Given the description of an element on the screen output the (x, y) to click on. 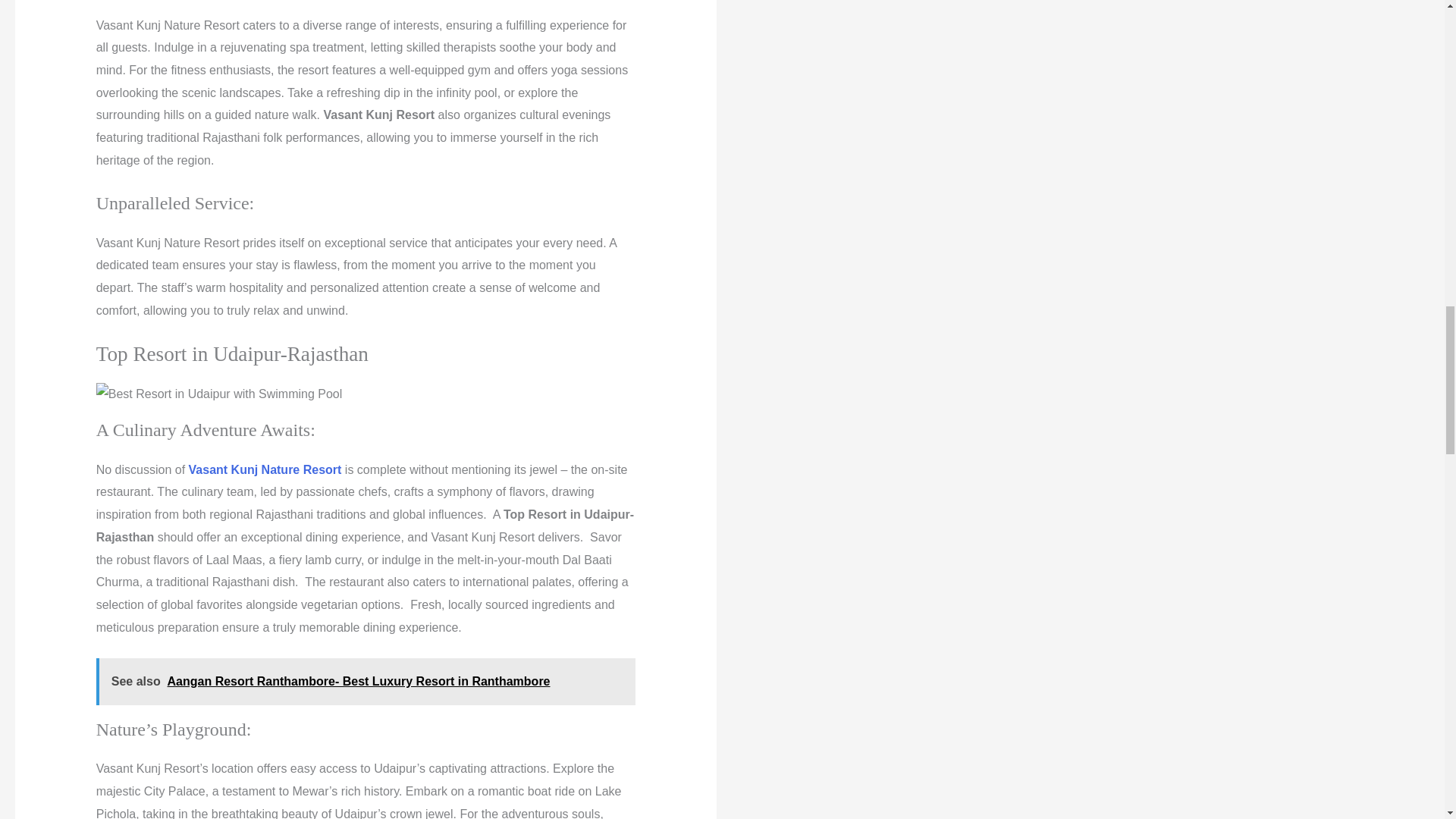
Vasant Kunj Nature Resort (265, 469)
